Given the description of an element on the screen output the (x, y) to click on. 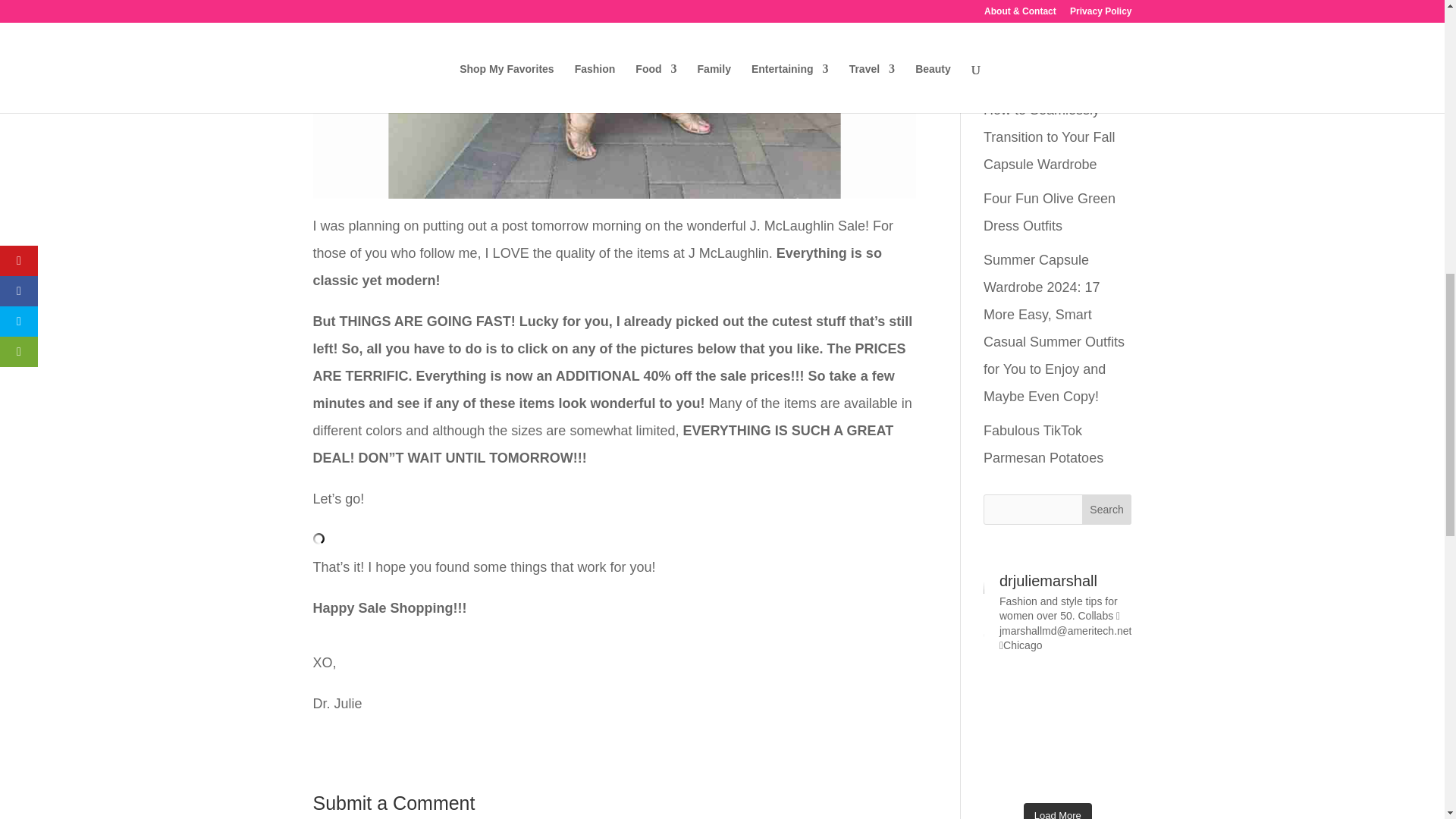
Four Fun Olive Green Dress Outfits (1049, 211)
Fabulous TikTok Parmesan Potatoes (1043, 444)
How to Seamlessly Transition to Your Fall Capsule Wardrobe (1049, 136)
Search (1106, 509)
